Given the description of an element on the screen output the (x, y) to click on. 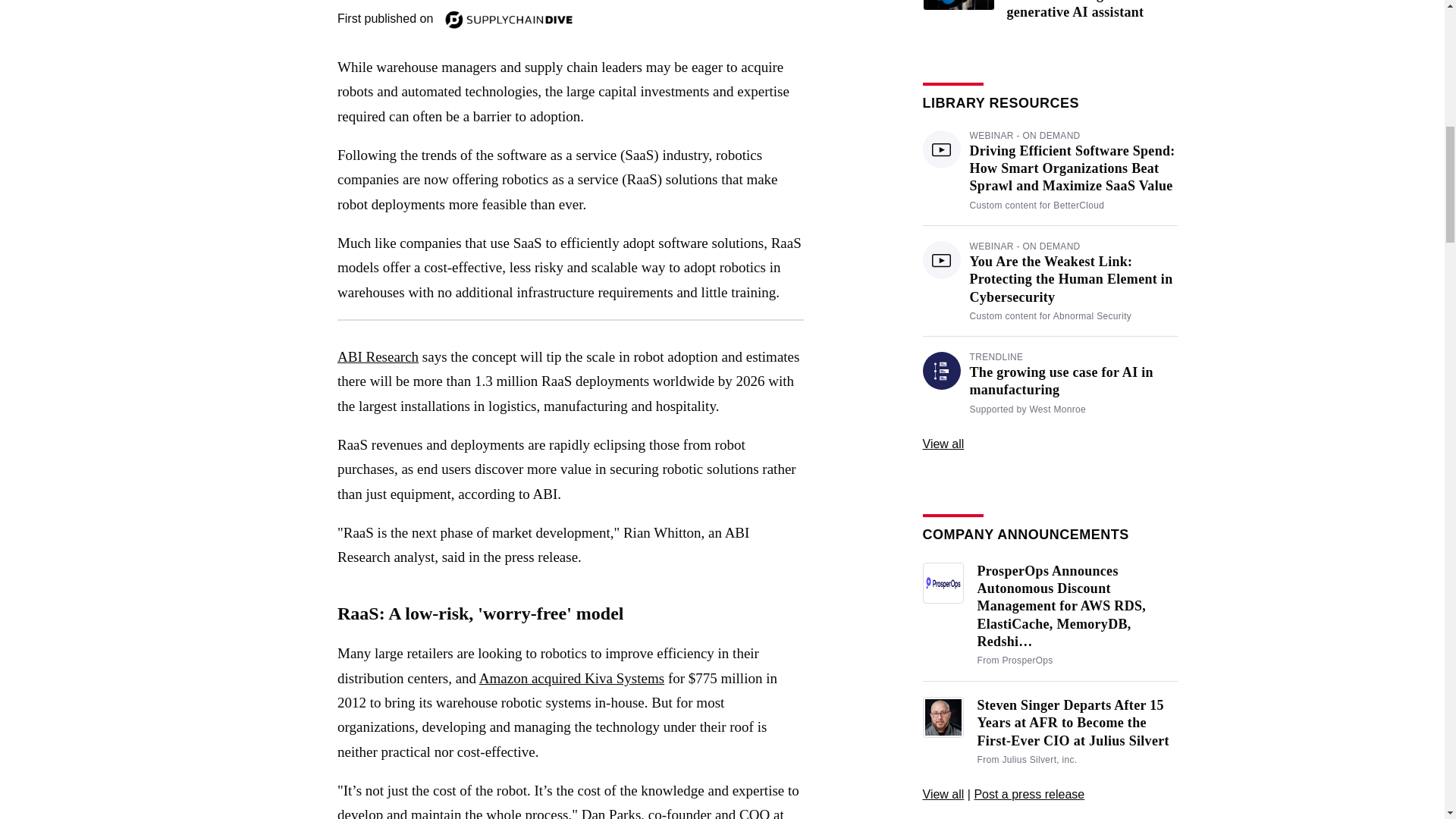
Amazon acquired Kiva Systems (571, 678)
ABI Research (378, 356)
